Given the description of an element on the screen output the (x, y) to click on. 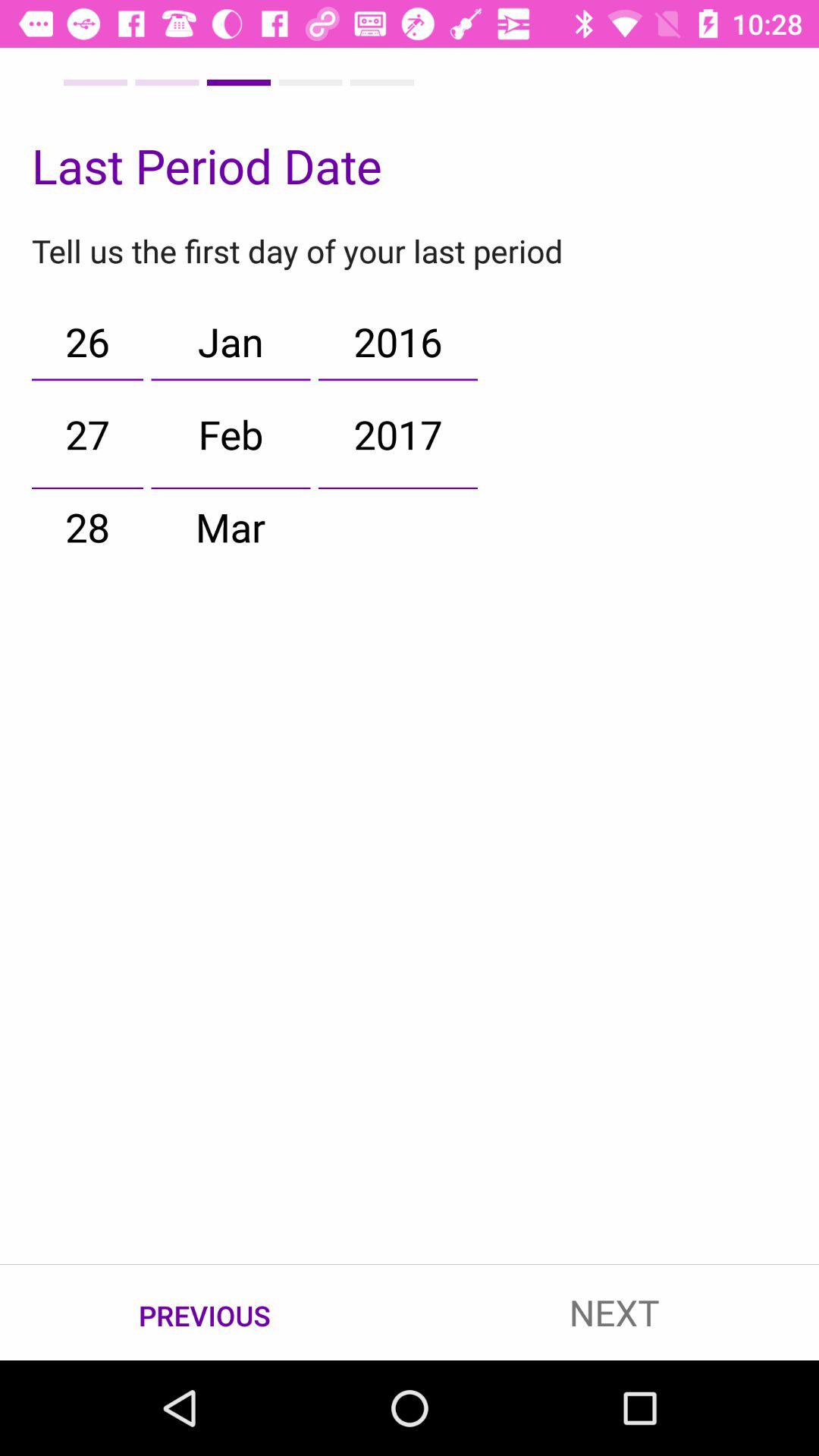
open the next item (614, 1312)
